Given the description of an element on the screen output the (x, y) to click on. 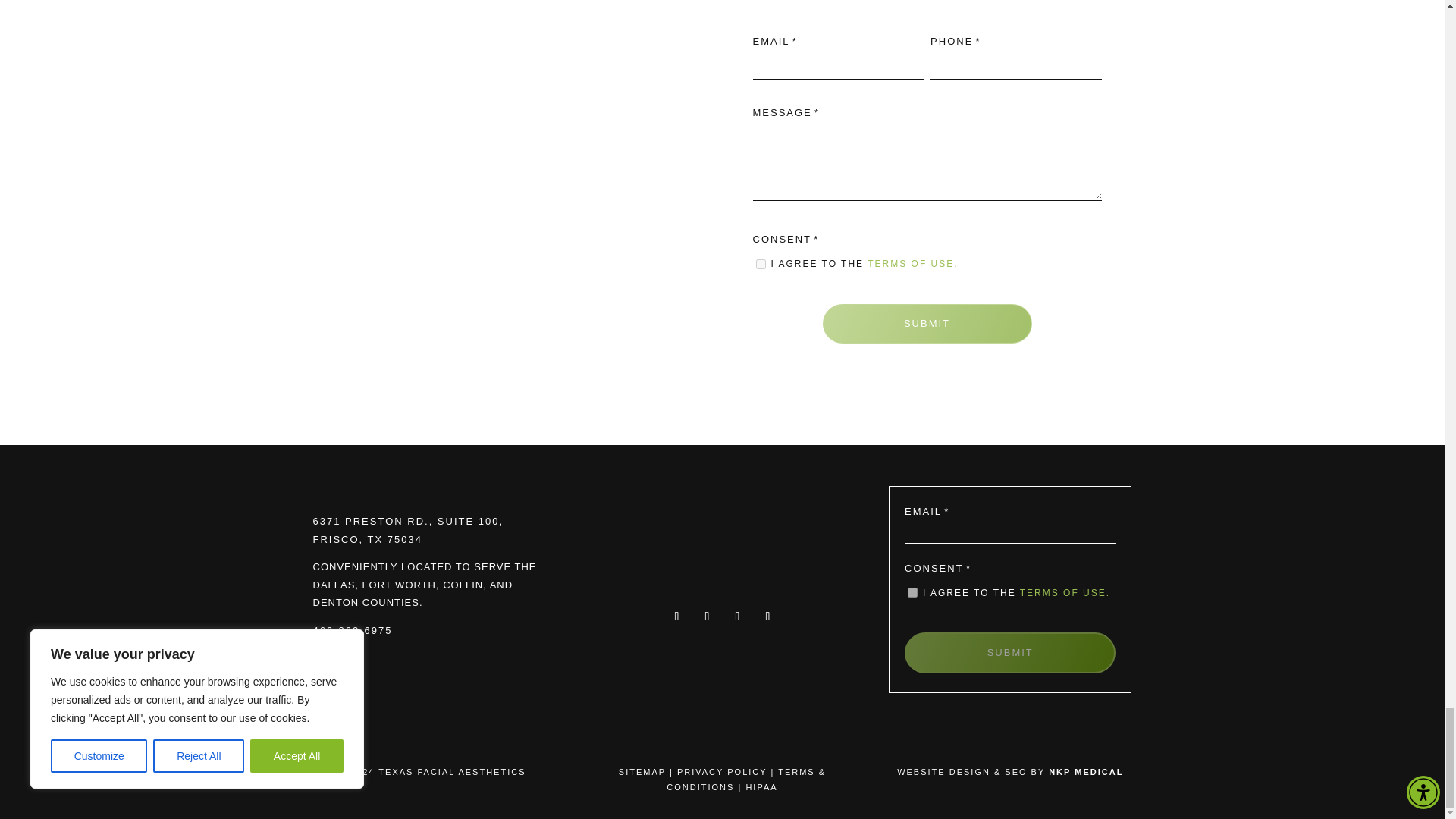
Follow on Youtube (766, 616)
Submit (1009, 652)
Follow on TikTok (706, 616)
Follow on Instagram (737, 616)
1 (912, 592)
1 (760, 264)
Follow on Facebook (675, 616)
texas facial aesthetics logo white (722, 555)
Submit (926, 323)
